Given the description of an element on the screen output the (x, y) to click on. 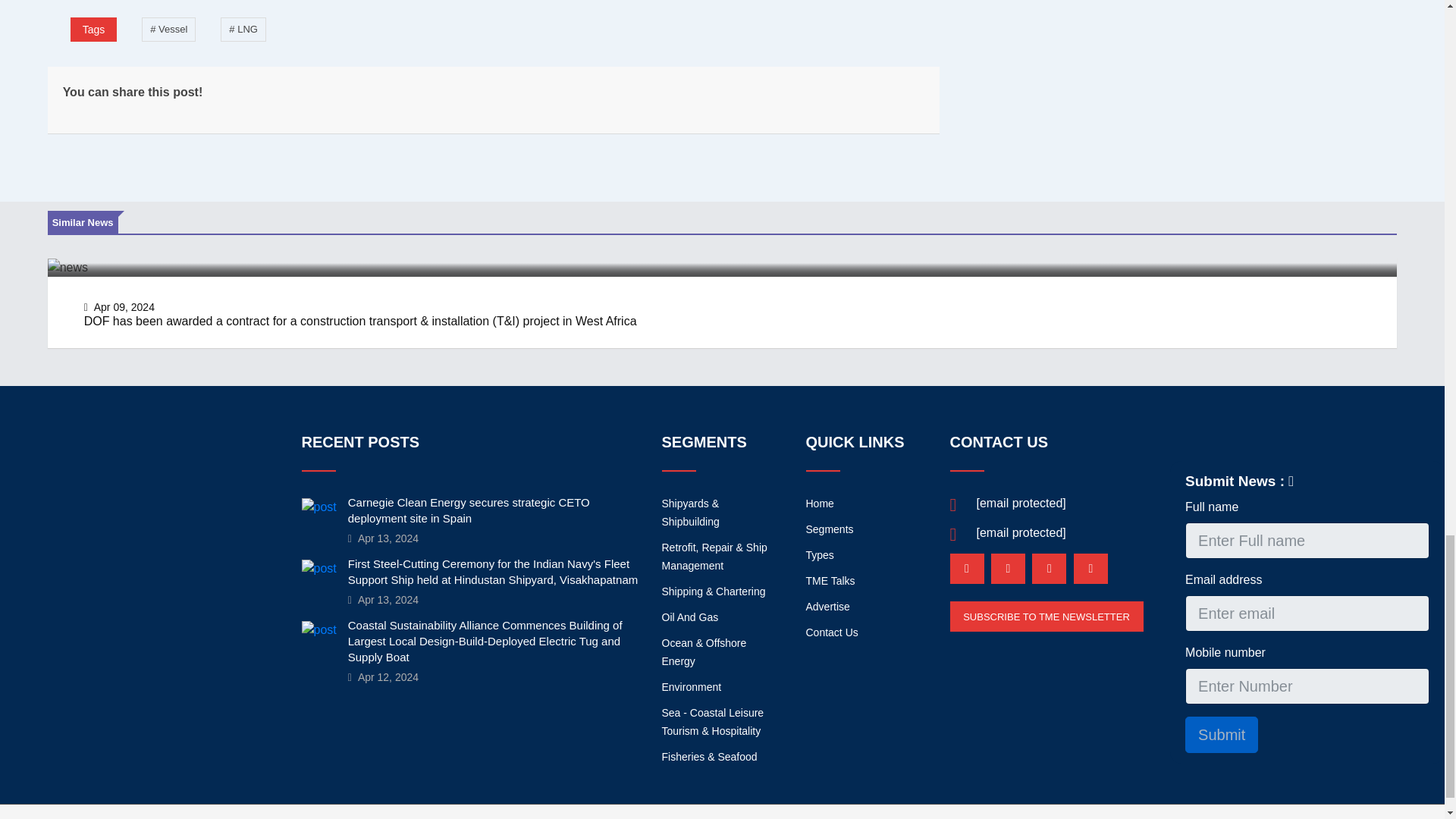
Linkedin  (966, 568)
twitter (1048, 568)
facebook (1008, 568)
youtube (1091, 568)
